Given the description of an element on the screen output the (x, y) to click on. 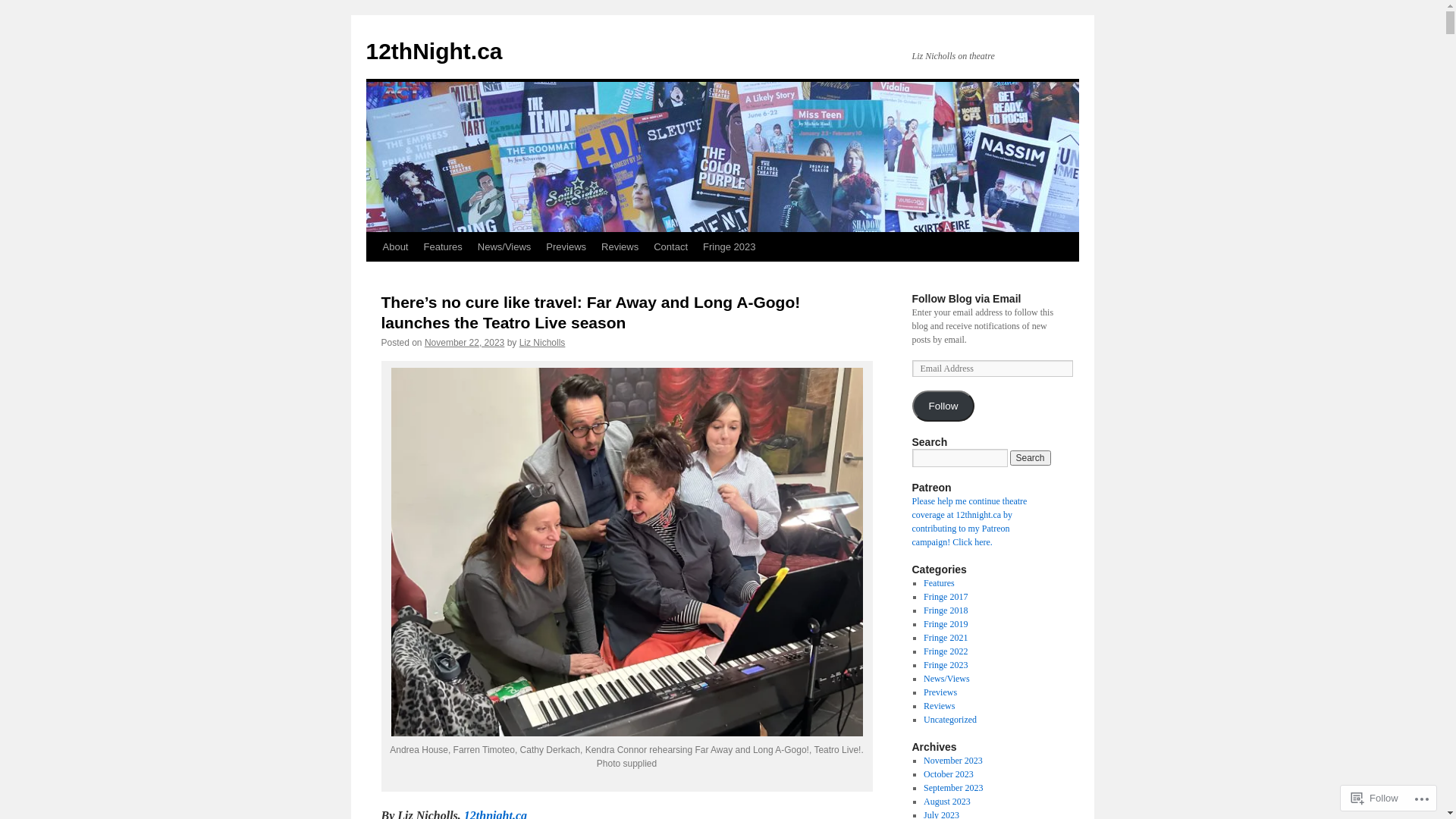
November 22, 2023 Element type: text (464, 342)
September 2023 Element type: text (952, 787)
Follow Element type: text (942, 405)
Fringe 2017 Element type: text (945, 596)
October 2023 Element type: text (948, 773)
Fringe 2019 Element type: text (945, 623)
Contact Element type: text (670, 246)
Search Element type: text (1030, 457)
Reviews Element type: text (619, 246)
Fringe 2021 Element type: text (945, 637)
August 2023 Element type: text (946, 801)
Fringe 2022 Element type: text (945, 651)
12thNight.ca Element type: text (433, 50)
Previews Element type: text (940, 692)
Reviews Element type: text (938, 705)
November 2023 Element type: text (952, 760)
Uncategorized Element type: text (949, 719)
Fringe 2023 Element type: text (945, 664)
News/Views Element type: text (504, 246)
Features Element type: text (442, 246)
Fringe 2023 Element type: text (728, 246)
Follow Element type: text (1374, 797)
News/Views Element type: text (946, 678)
About Element type: text (394, 246)
Liz Nicholls Element type: text (542, 342)
Fringe 2018 Element type: text (945, 610)
Features Element type: text (938, 582)
Previews Element type: text (565, 246)
